Given the description of an element on the screen output the (x, y) to click on. 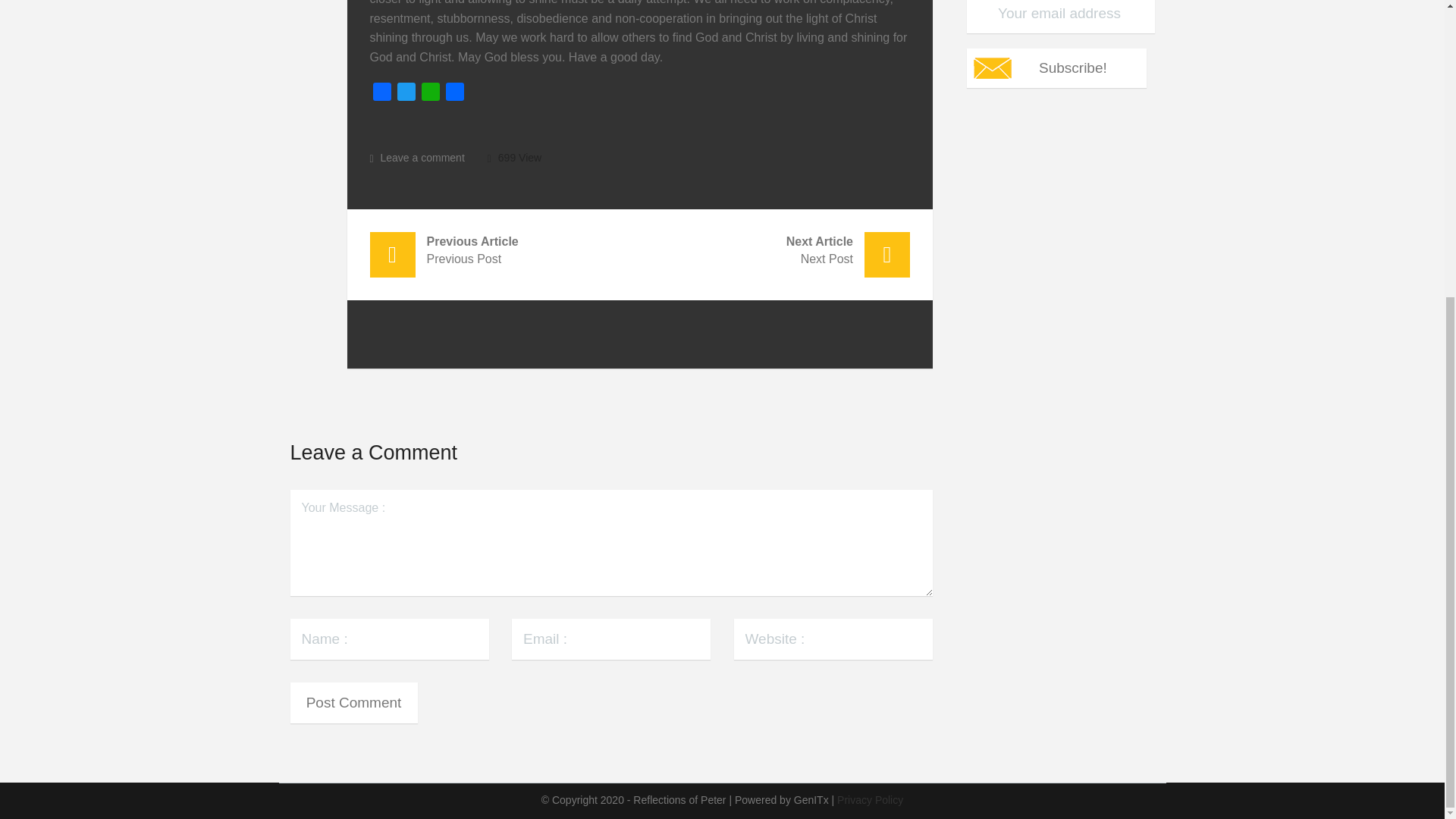
WhatsApp (430, 94)
Subscribe!        (1056, 67)
Post Comment (352, 702)
Share (504, 247)
WhatsApp (454, 94)
Facebook (430, 94)
Twitter (381, 94)
Facebook (775, 247)
Twitter (406, 94)
Subscribe!        (381, 94)
Leave a comment (406, 94)
Post Comment (1056, 67)
